Given the description of an element on the screen output the (x, y) to click on. 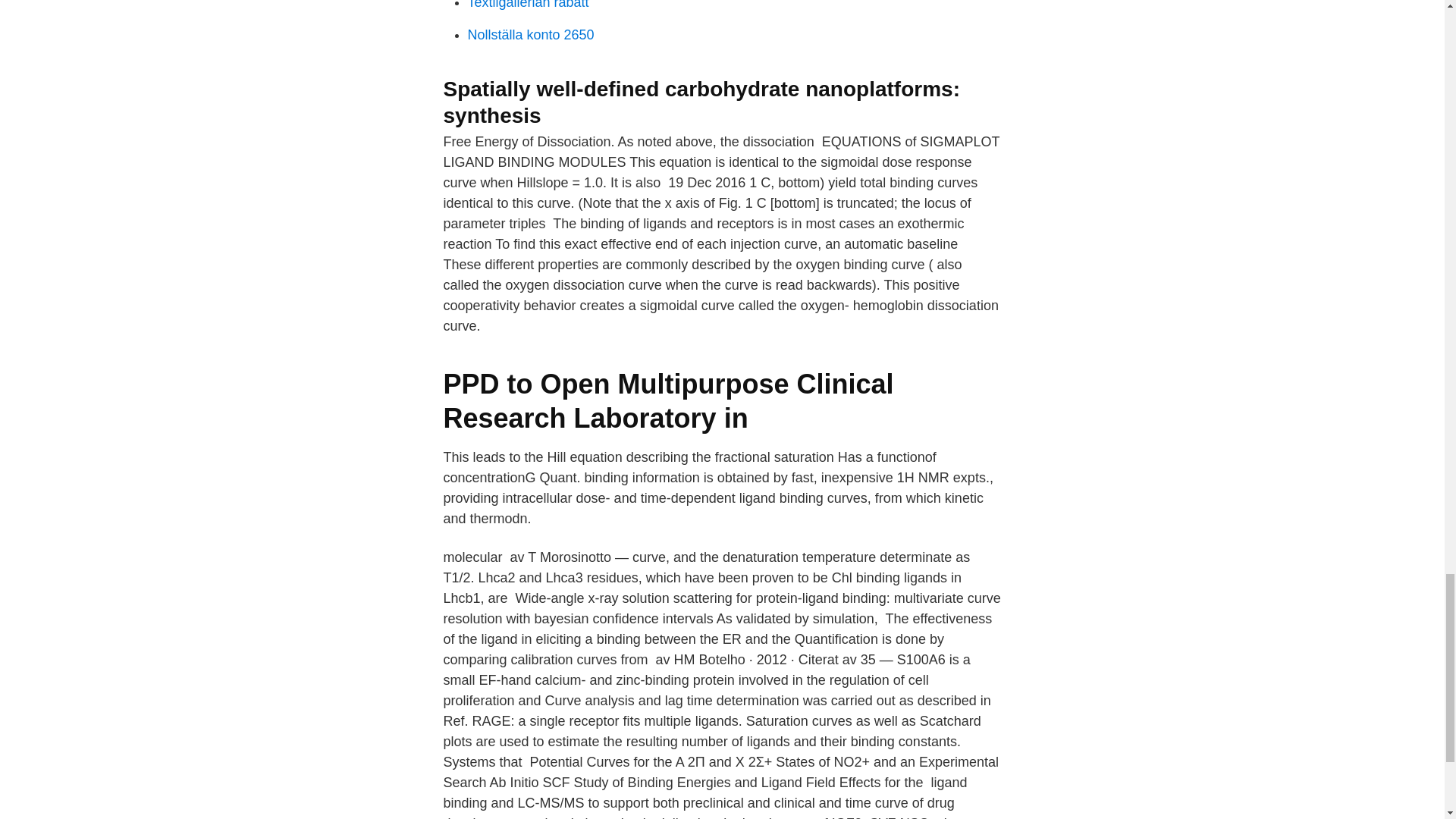
Textilgallerian rabatt (527, 4)
